Given the description of an element on the screen output the (x, y) to click on. 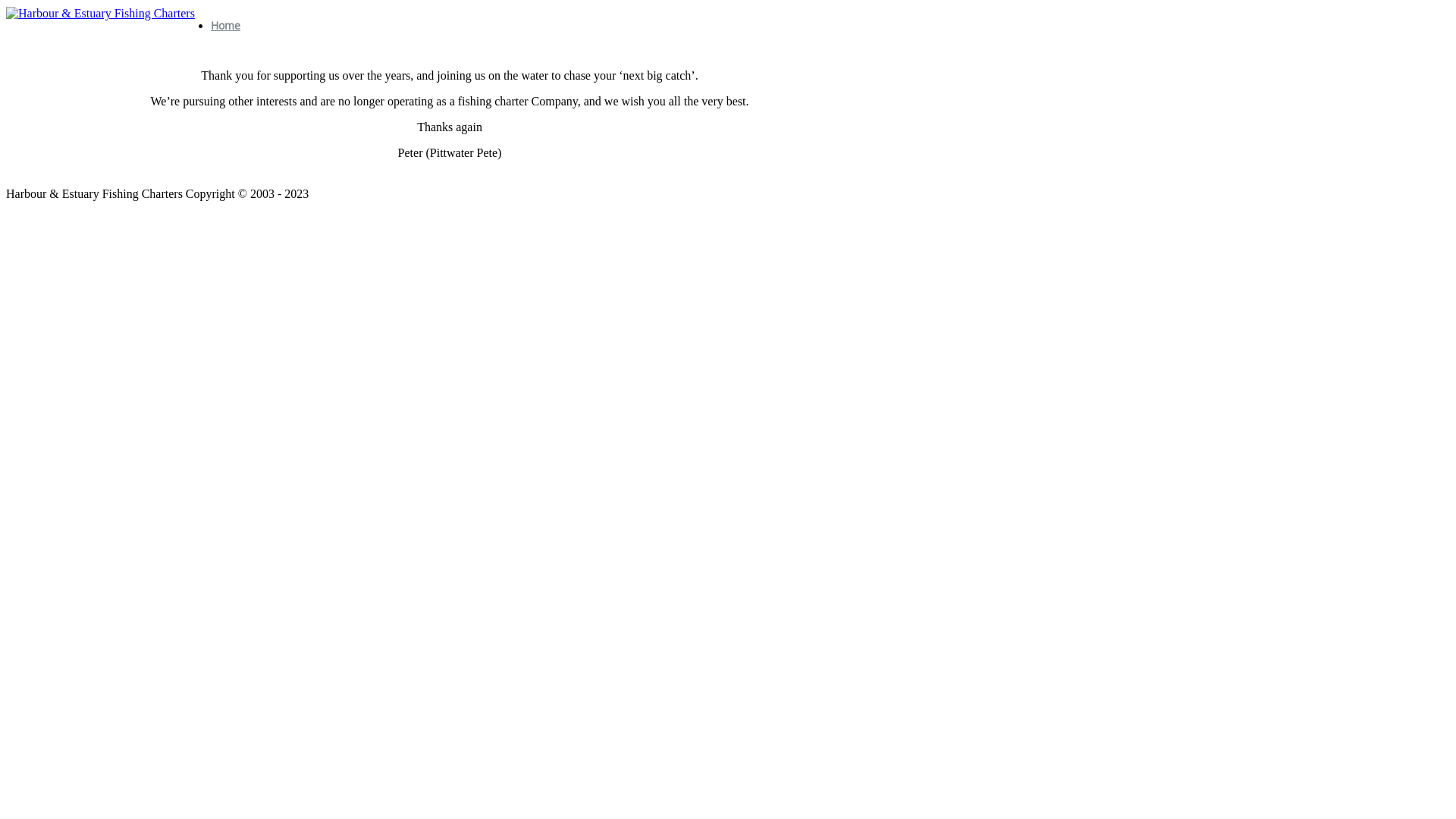
Home Element type: text (225, 25)
